Given the description of an element on the screen output the (x, y) to click on. 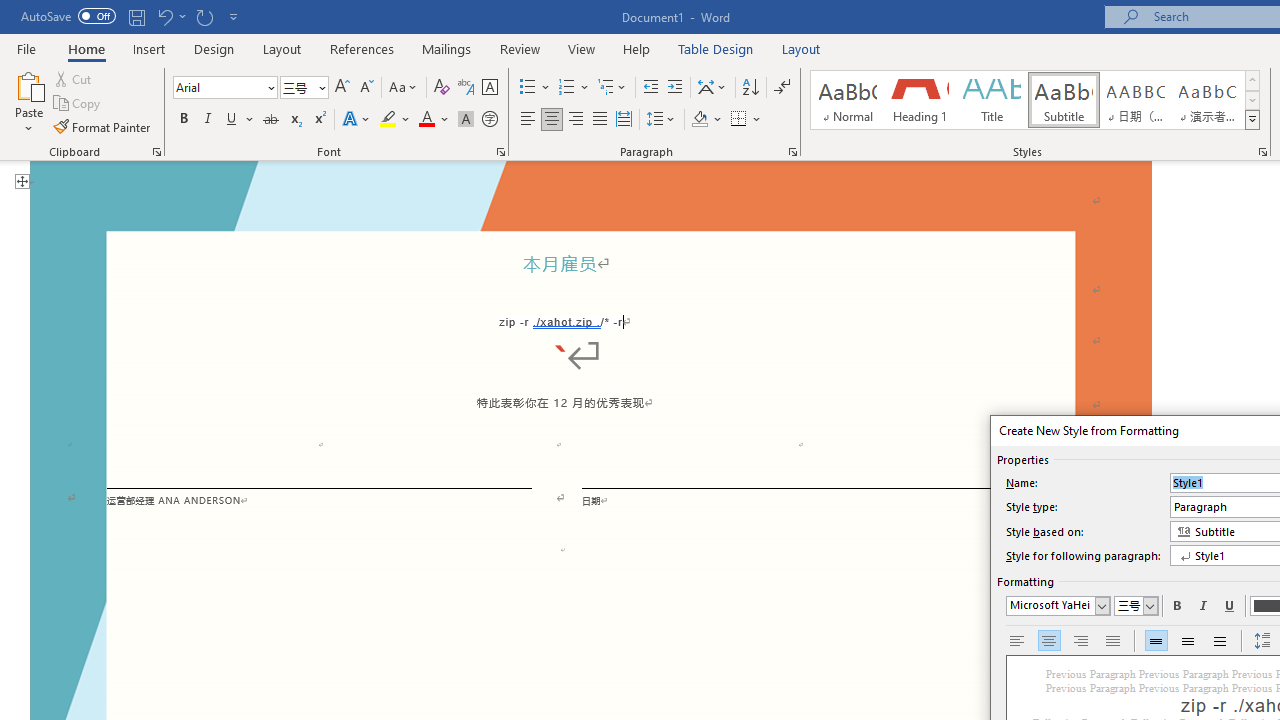
Repeat Doc Close (204, 15)
